Given the description of an element on the screen output the (x, y) to click on. 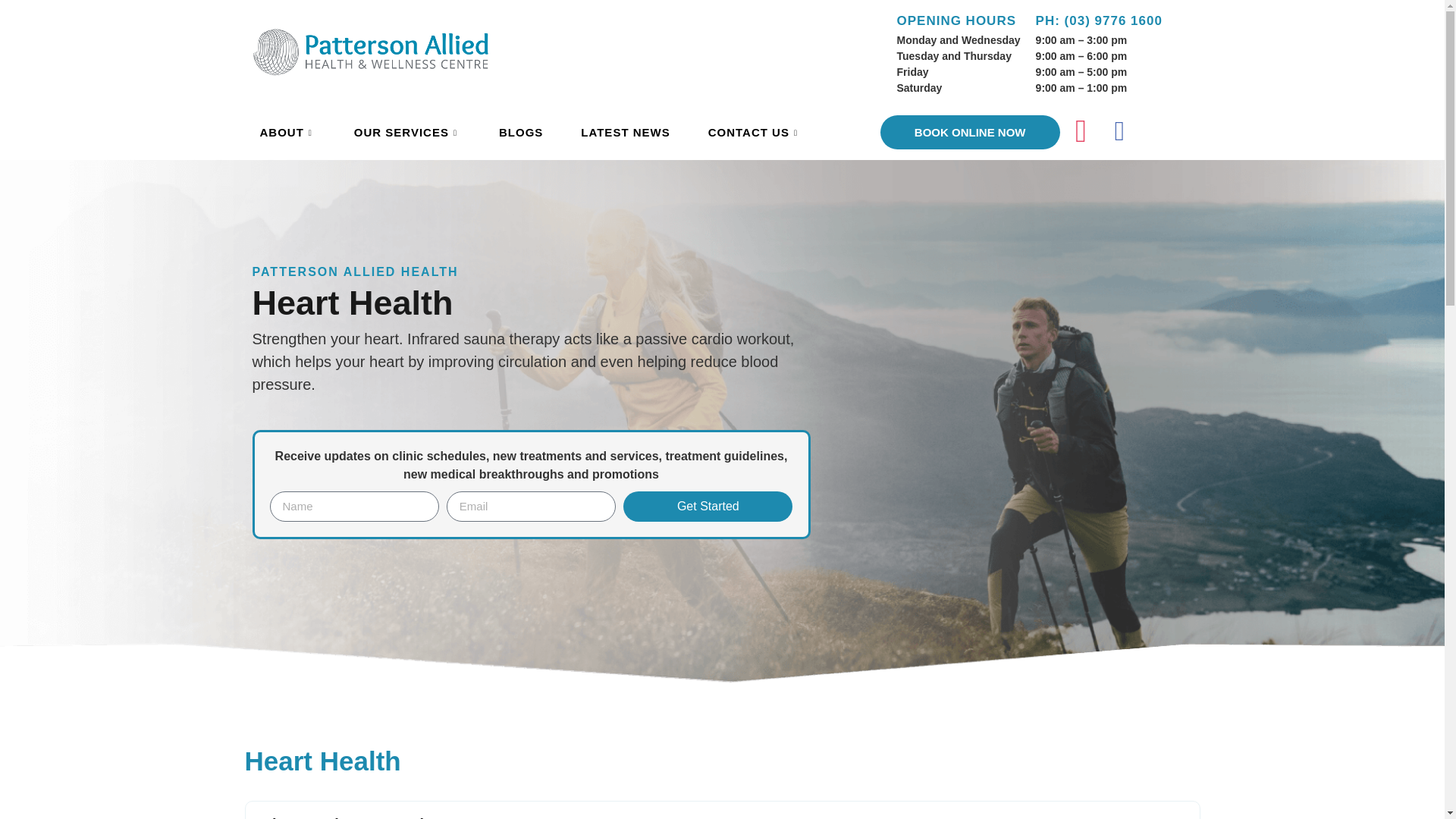
Get Started (707, 506)
fb:like Facebook Social Plugin (1165, 130)
ABOUT (287, 132)
OUR SERVICES (407, 132)
LATEST NEWS (625, 132)
BOOK ONLINE NOW (969, 132)
CONTACT US (754, 132)
BLOGS (521, 132)
